Given the description of an element on the screen output the (x, y) to click on. 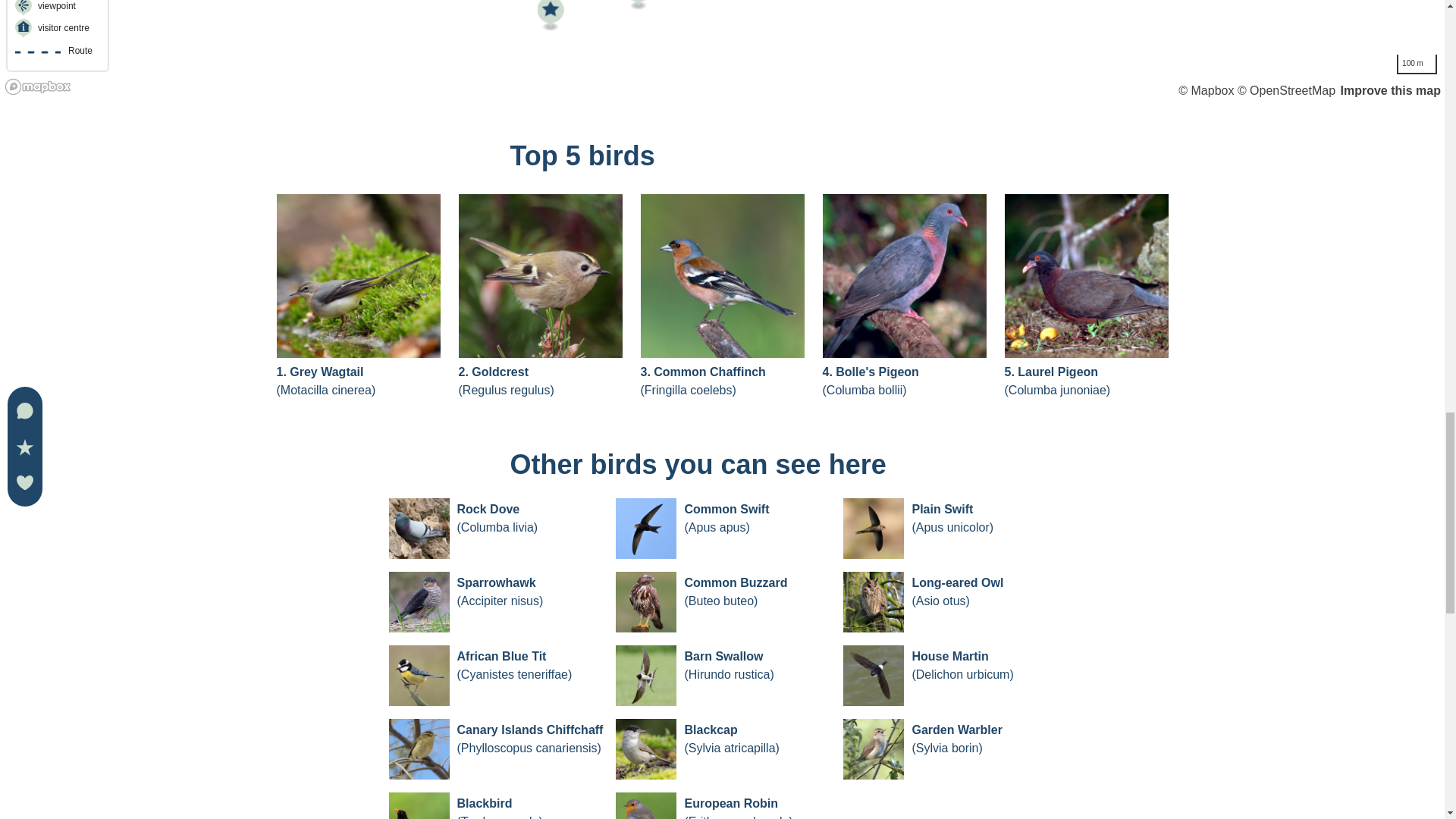
OpenStreetMap (1286, 89)
Mapbox (1205, 89)
Map feedback (1390, 89)
Improve this map (1390, 89)
